Given the description of an element on the screen output the (x, y) to click on. 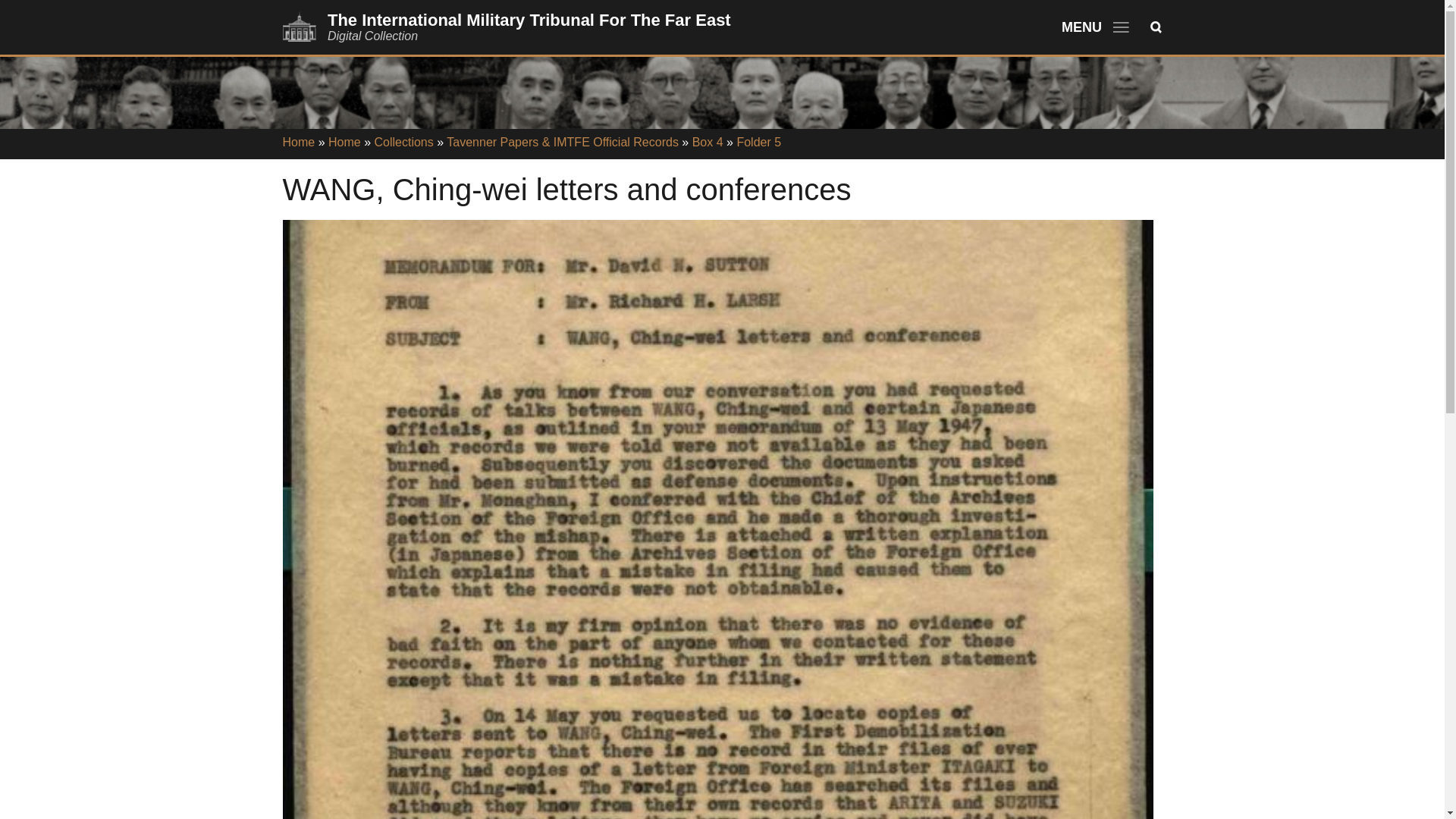
Collections (403, 141)
The International Military Tribunal For The Far East (528, 19)
Box 4 (708, 141)
Home (528, 19)
Home (298, 141)
The International Military Tribunal for the Far East, U.Va. (298, 37)
Home (345, 141)
Folder 5 (758, 141)
